Given the description of an element on the screen output the (x, y) to click on. 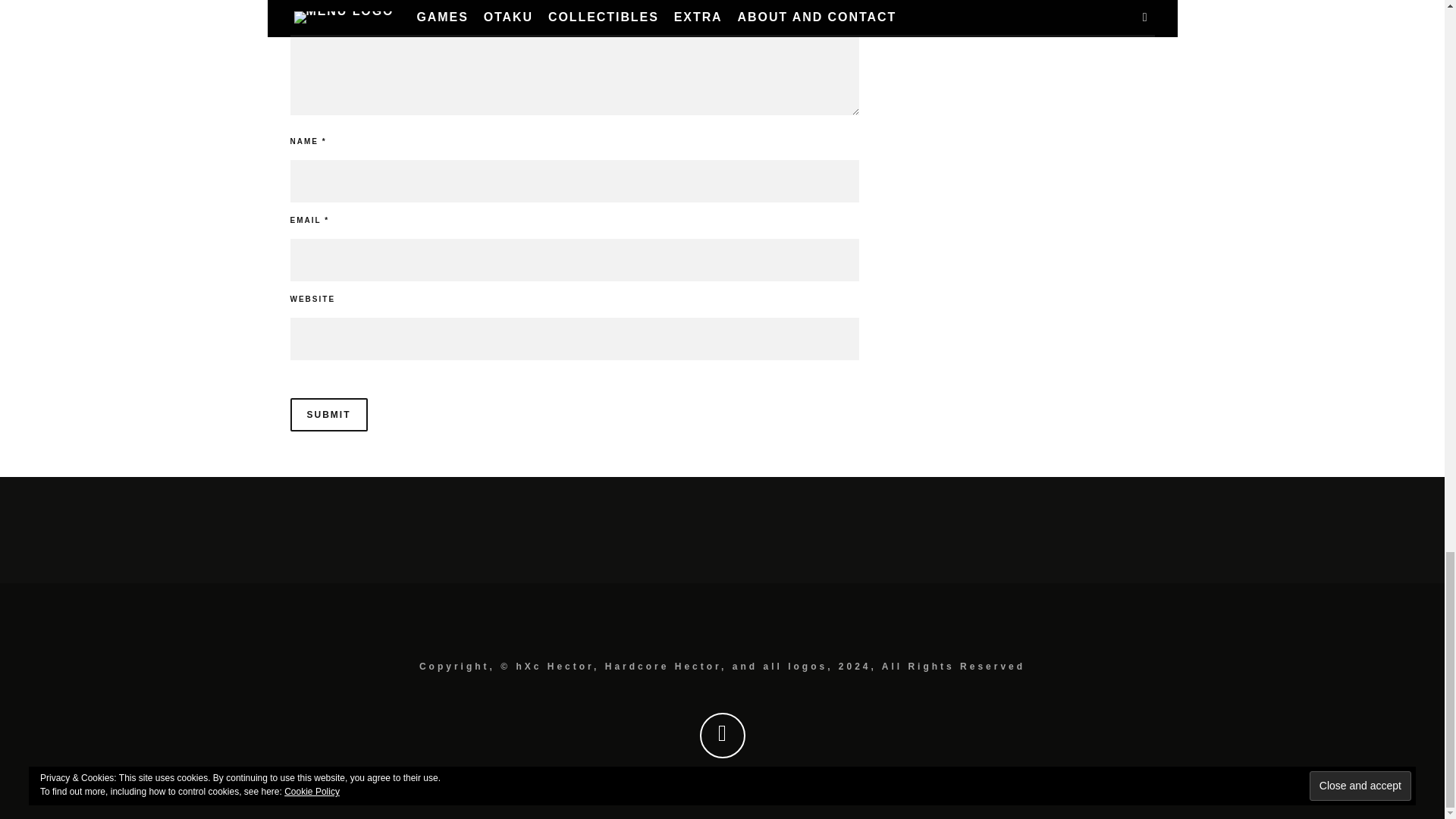
Submit (327, 414)
